Given the description of an element on the screen output the (x, y) to click on. 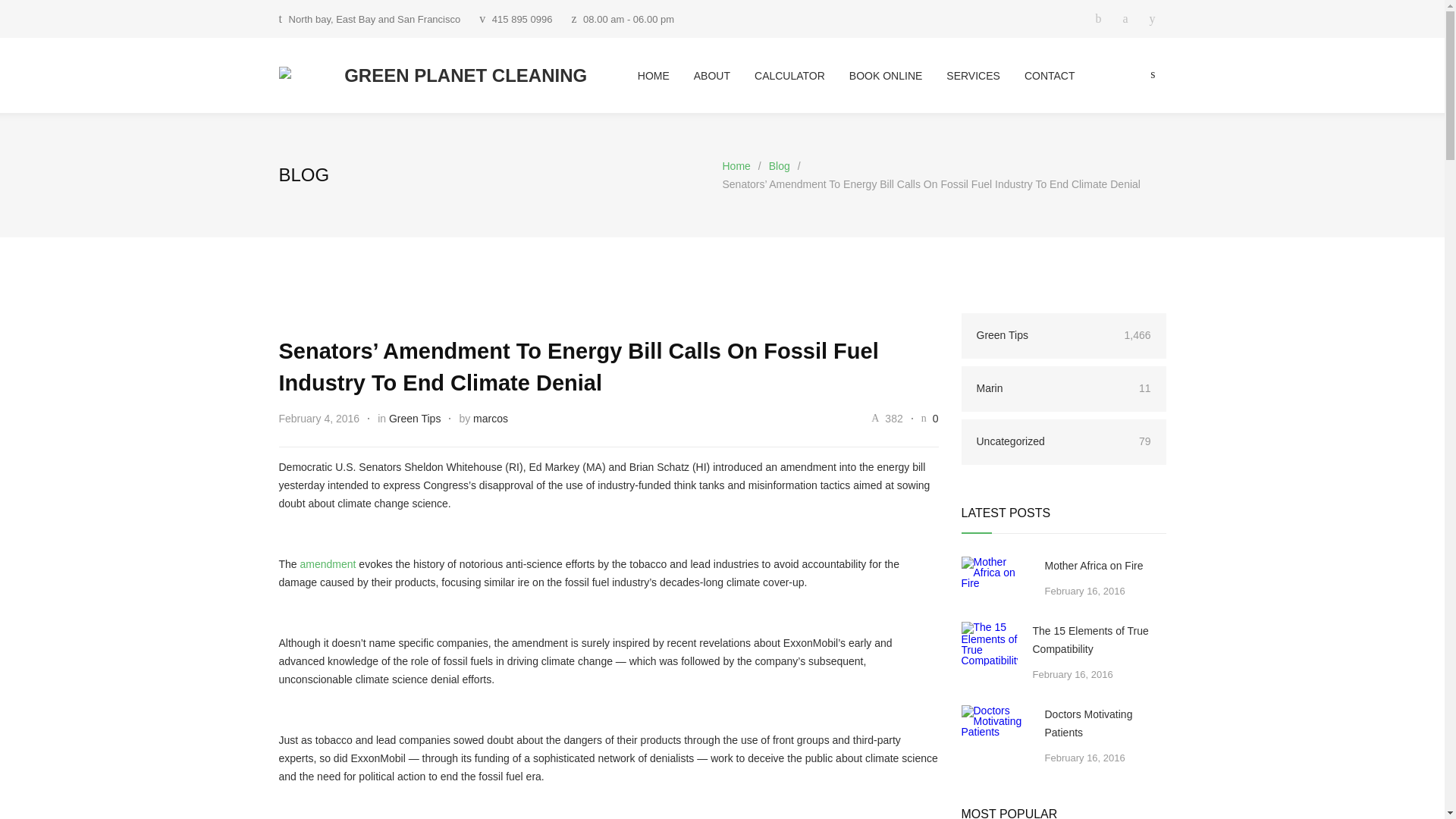
SERVICES (960, 75)
CALCULATOR (777, 75)
Home (735, 165)
415 895 0996 (522, 19)
marcos (490, 418)
Blog (779, 165)
View all posts filed under Green Tips (414, 418)
Blog (304, 174)
BOOK ONLINE (873, 75)
GREEN PLANET CLEANING (458, 75)
